Given the description of an element on the screen output the (x, y) to click on. 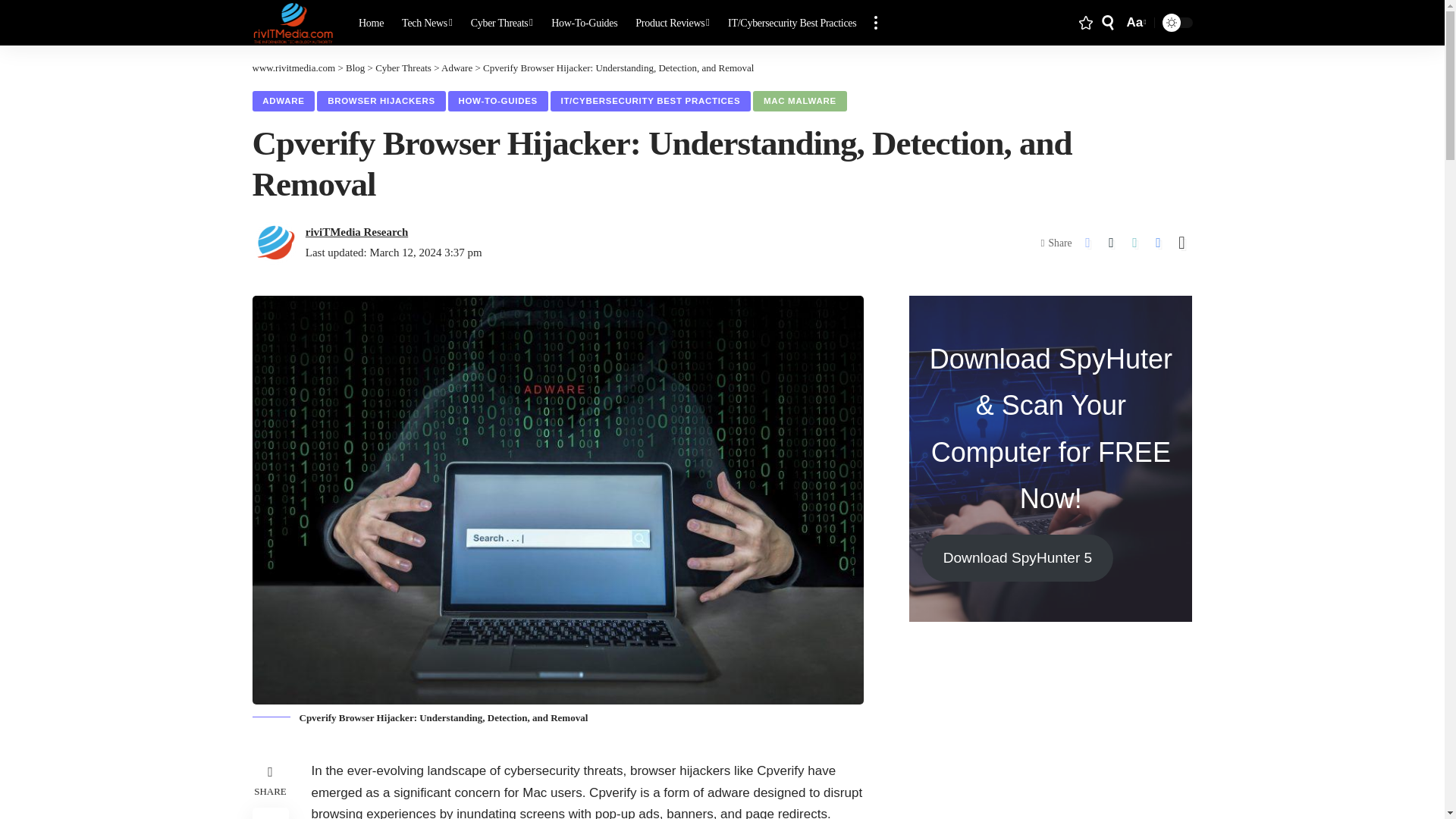
Home (371, 22)
Go to the Cyber Threats Category archives. (402, 67)
Product Reviews (672, 22)
Go to Blog. (355, 67)
How-To-Guides (583, 22)
Go to www.rivitmedia.com. (292, 67)
Go to the Adware Category archives. (456, 67)
Cyber Threats (502, 22)
Tech News (427, 22)
www.rivitmedia.com (292, 22)
